Given the description of an element on the screen output the (x, y) to click on. 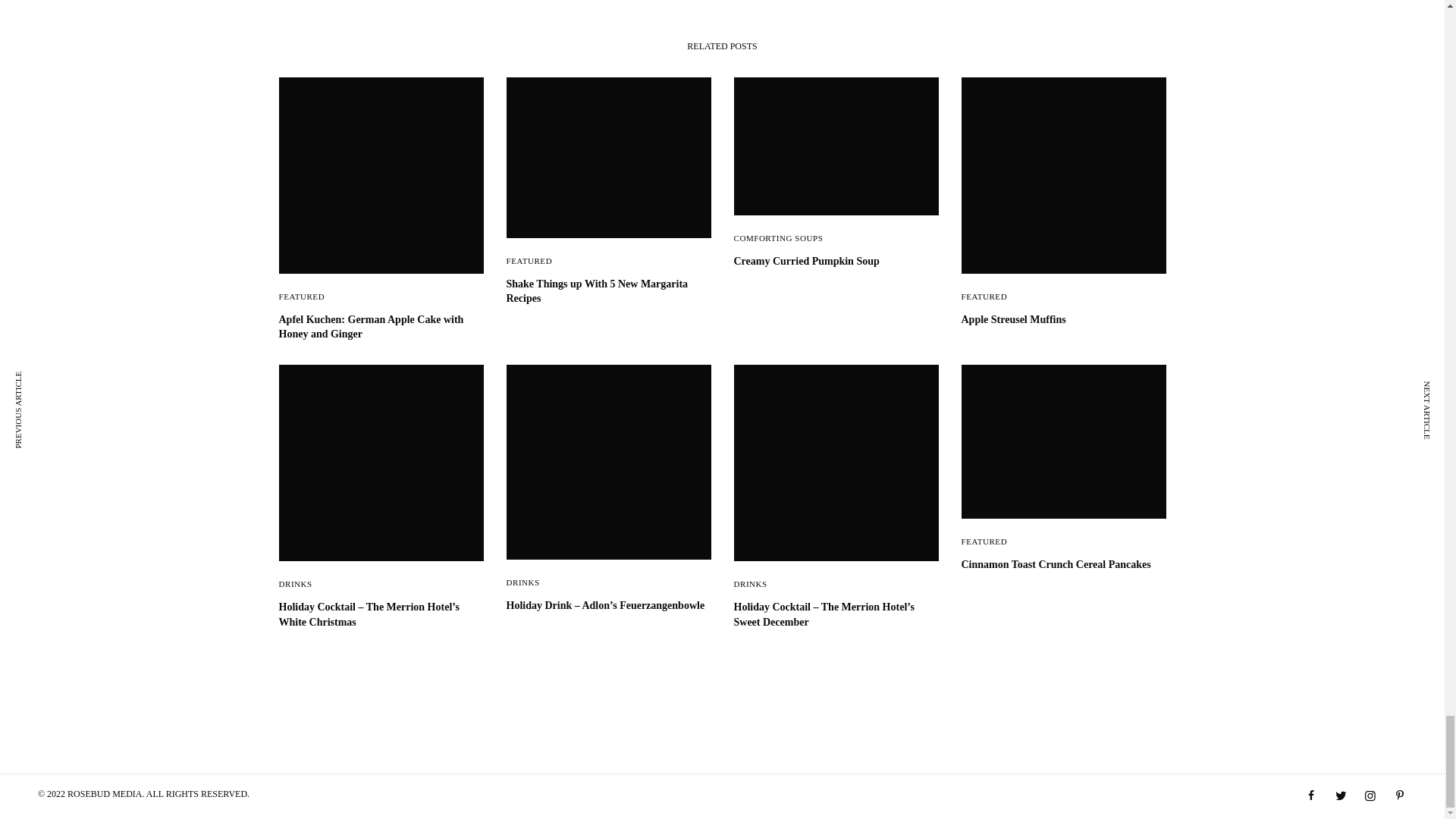
Cinnamon Toast Crunch Cereal Pancakes (1063, 564)
Apfel Kuchen: German Apple Cake with Honey and Ginger (381, 327)
Creamy Curried Pumpkin Soup (836, 261)
Apple Streusel Muffins (1063, 319)
Shake Things up With 5 New Margarita Recipes (608, 291)
